Given the description of an element on the screen output the (x, y) to click on. 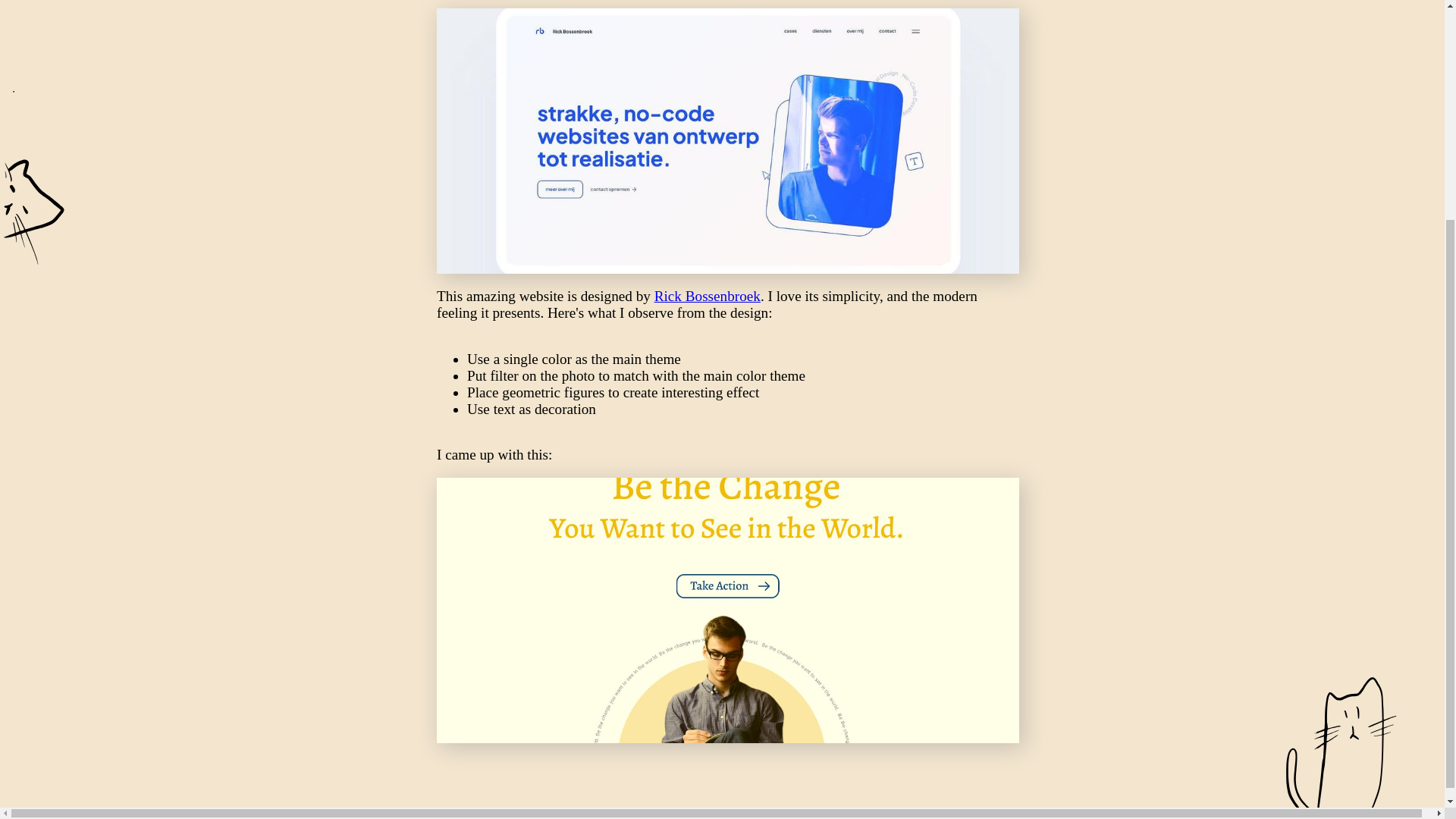
Rick Bossenbroek (706, 295)
